Given the description of an element on the screen output the (x, y) to click on. 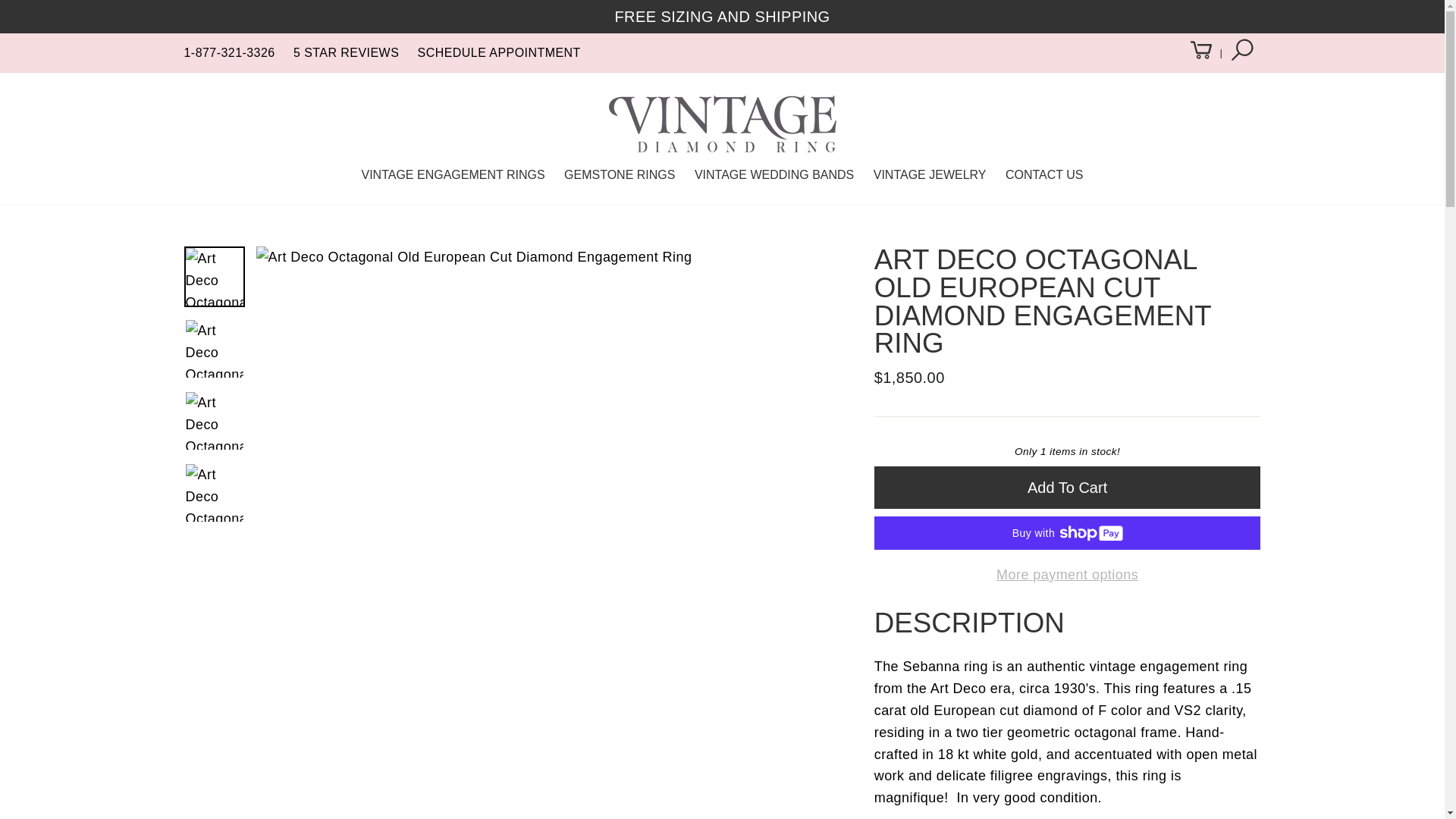
VINTAGE JEWELRY (930, 174)
SCHEDULE APPOINTMENT (499, 52)
1-877-321-3326 (229, 52)
5 STAR REVIEWS (345, 52)
GEMSTONE RINGS (619, 174)
VINTAGE ENGAGEMENT RINGS (452, 174)
VINTAGE WEDDING BANDS (774, 174)
